Given the description of an element on the screen output the (x, y) to click on. 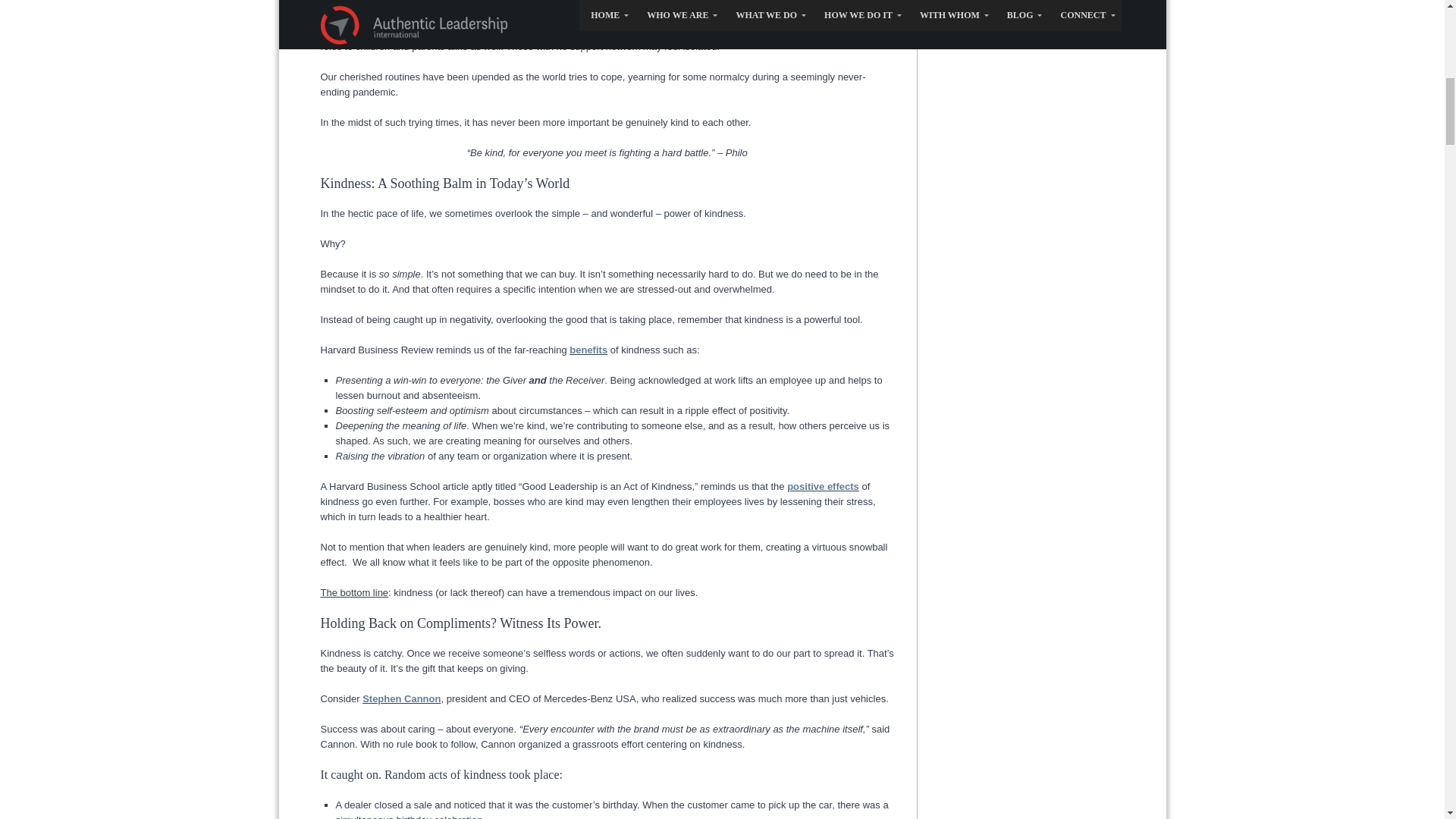
positive effects (823, 486)
Stephen Cannon (401, 698)
benefits (588, 349)
